Given the description of an element on the screen output the (x, y) to click on. 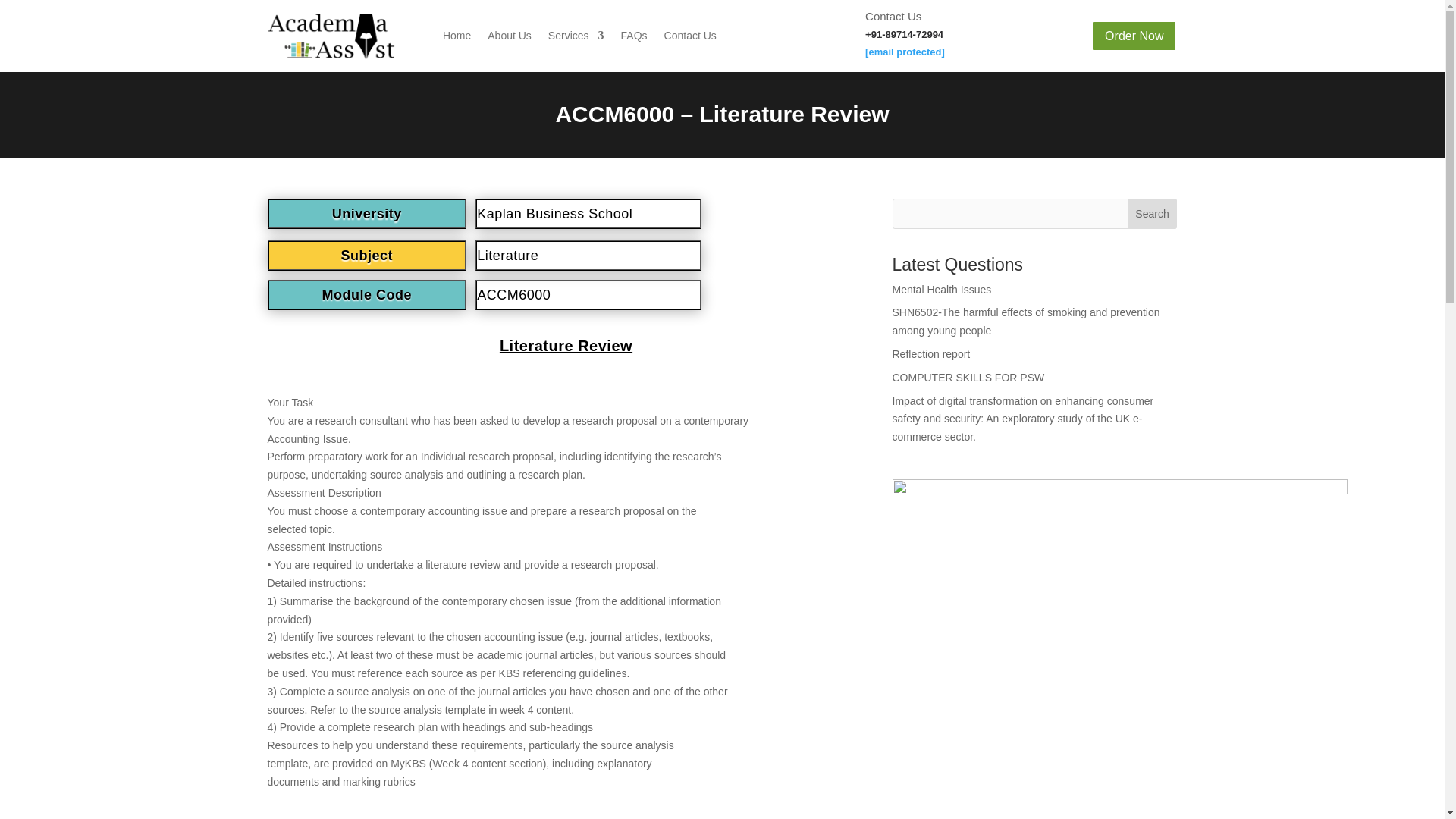
Services (576, 35)
